Given the description of an element on the screen output the (x, y) to click on. 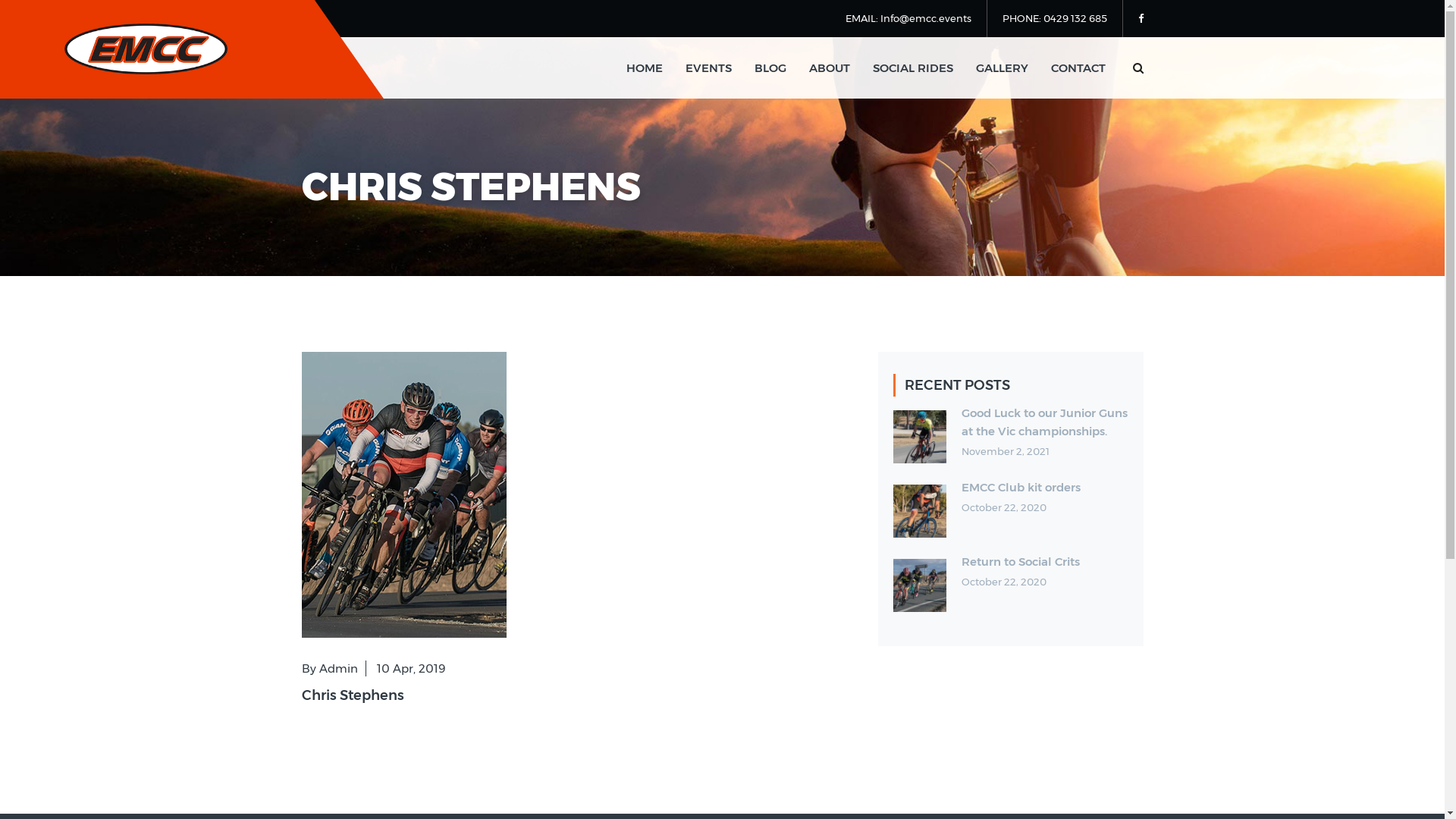
Return to Social Crits Element type: text (1020, 561)
HOME Element type: text (644, 67)
SOCIAL RIDES Element type: text (912, 67)
ABOUT Element type: text (828, 67)
GALLERY Element type: text (1001, 67)
EMAIL: Info@emcc.events Element type: text (907, 18)
BLOG Element type: text (769, 67)
EVENTS Element type: text (708, 67)
Good Luck to our Junior Guns at the Vic championships. Element type: text (1044, 421)
CONTACT Element type: text (1078, 67)
EMCC Club kit orders Element type: text (1020, 487)
